Given the description of an element on the screen output the (x, y) to click on. 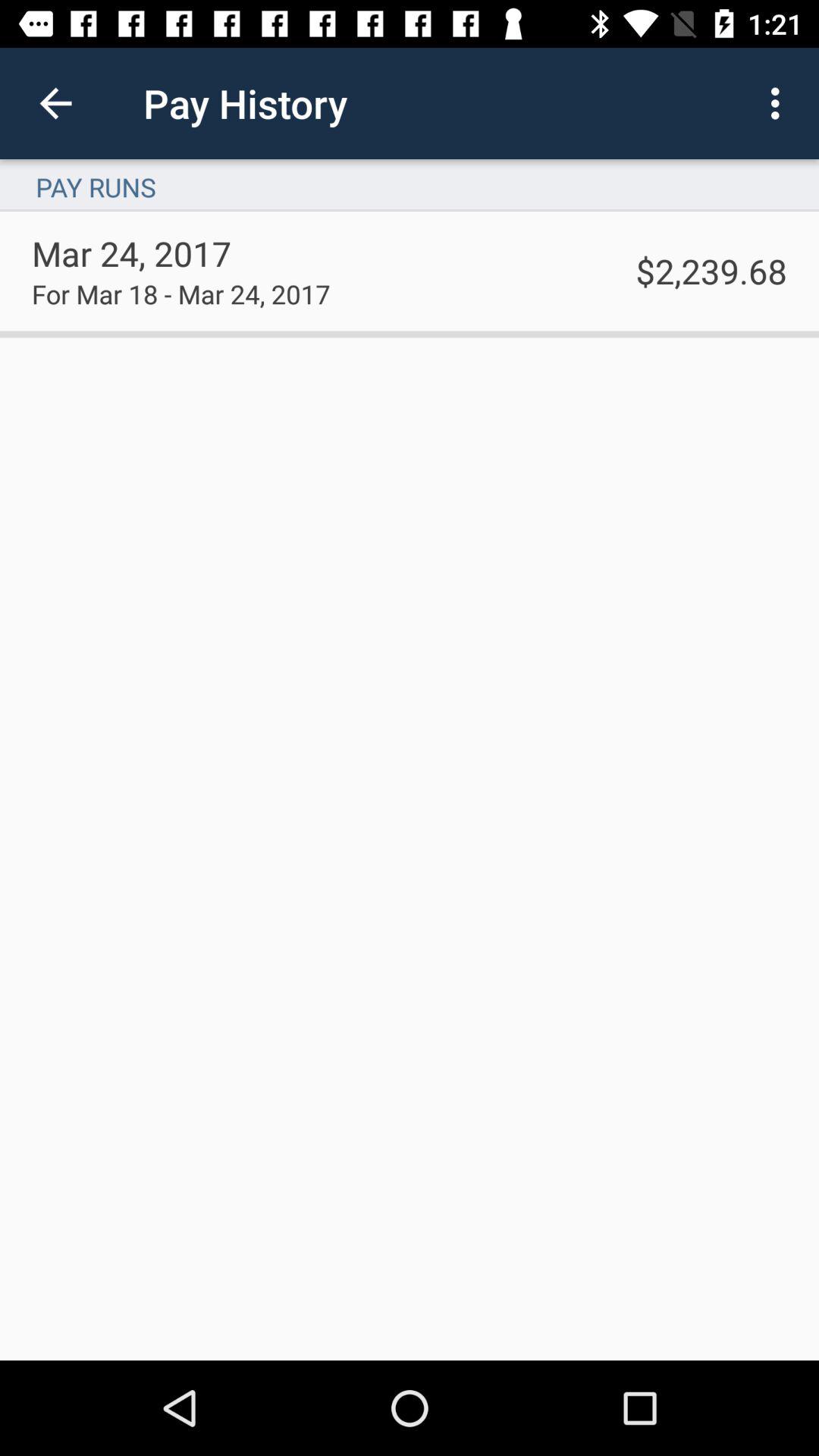
press the for mar 18 (180, 293)
